Given the description of an element on the screen output the (x, y) to click on. 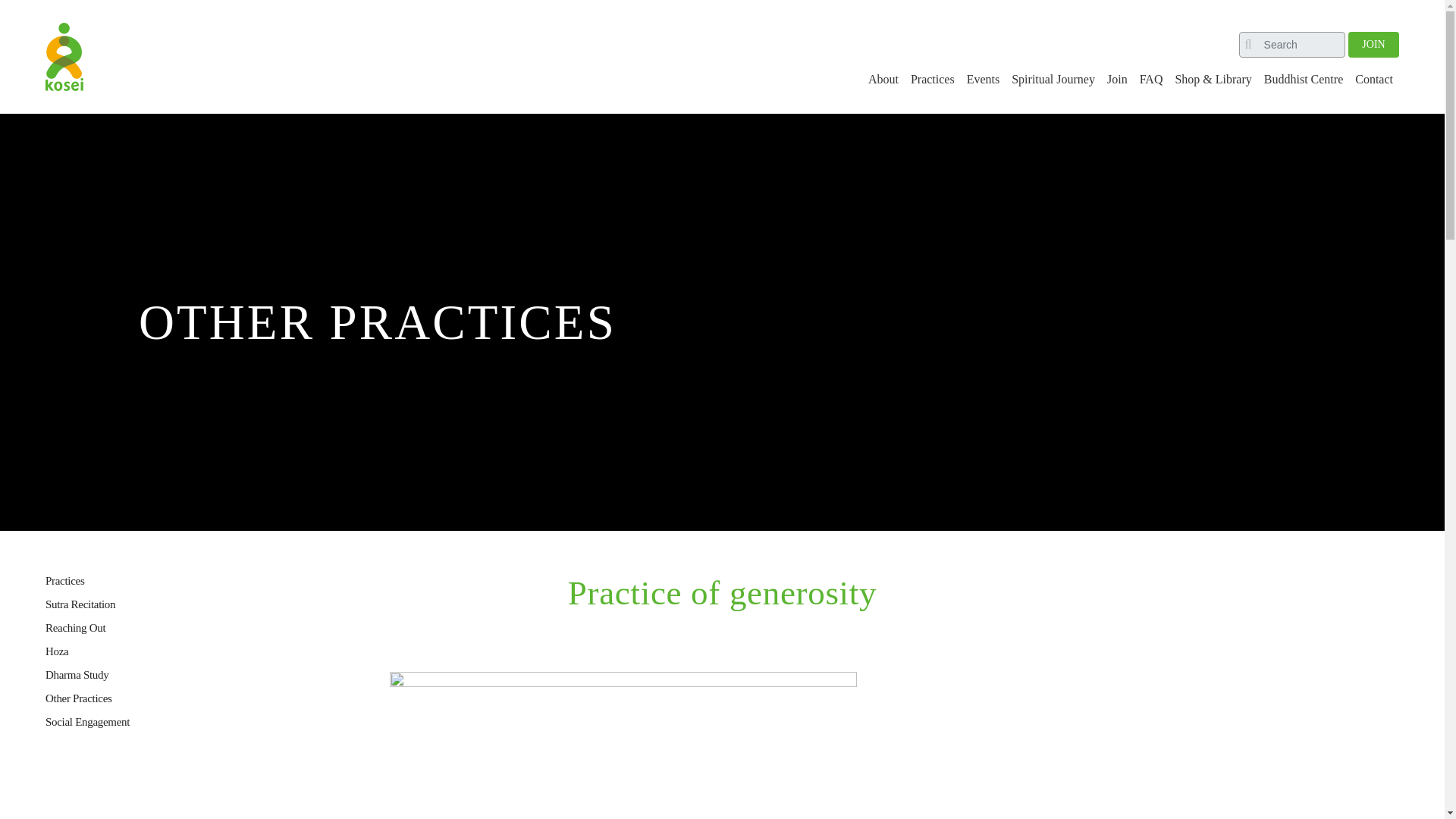
Other Practices (78, 698)
Practices (933, 79)
Practices (64, 580)
Social Engagement (87, 721)
Contact (1374, 79)
About (882, 79)
FAQ (1151, 79)
Events (983, 79)
Join (1116, 79)
Hoza (56, 651)
JOIN (1373, 42)
Reaching Out (74, 627)
Dharma Study (76, 674)
Buddhist Centre (1302, 79)
Sutra Recitation (80, 604)
